Given the description of an element on the screen output the (x, y) to click on. 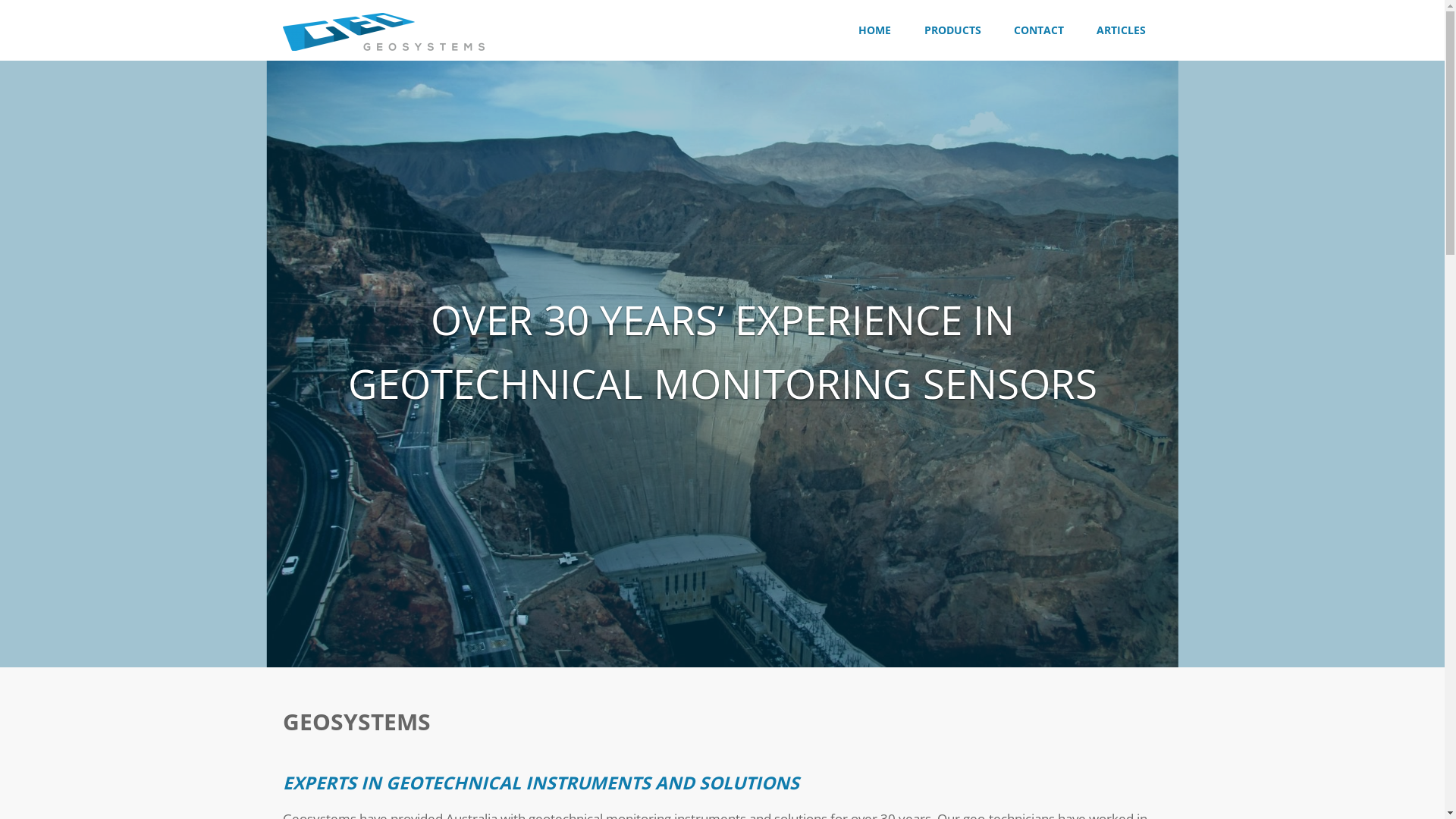
HOME Element type: text (874, 30)
ARTICLES Element type: text (1120, 30)
GeoSystems Element type: hover (382, 29)
CONTACT Element type: text (1038, 30)
PRODUCTS Element type: text (952, 30)
GEOSYSTEMS Element type: text (539, 13)
